Given the description of an element on the screen output the (x, y) to click on. 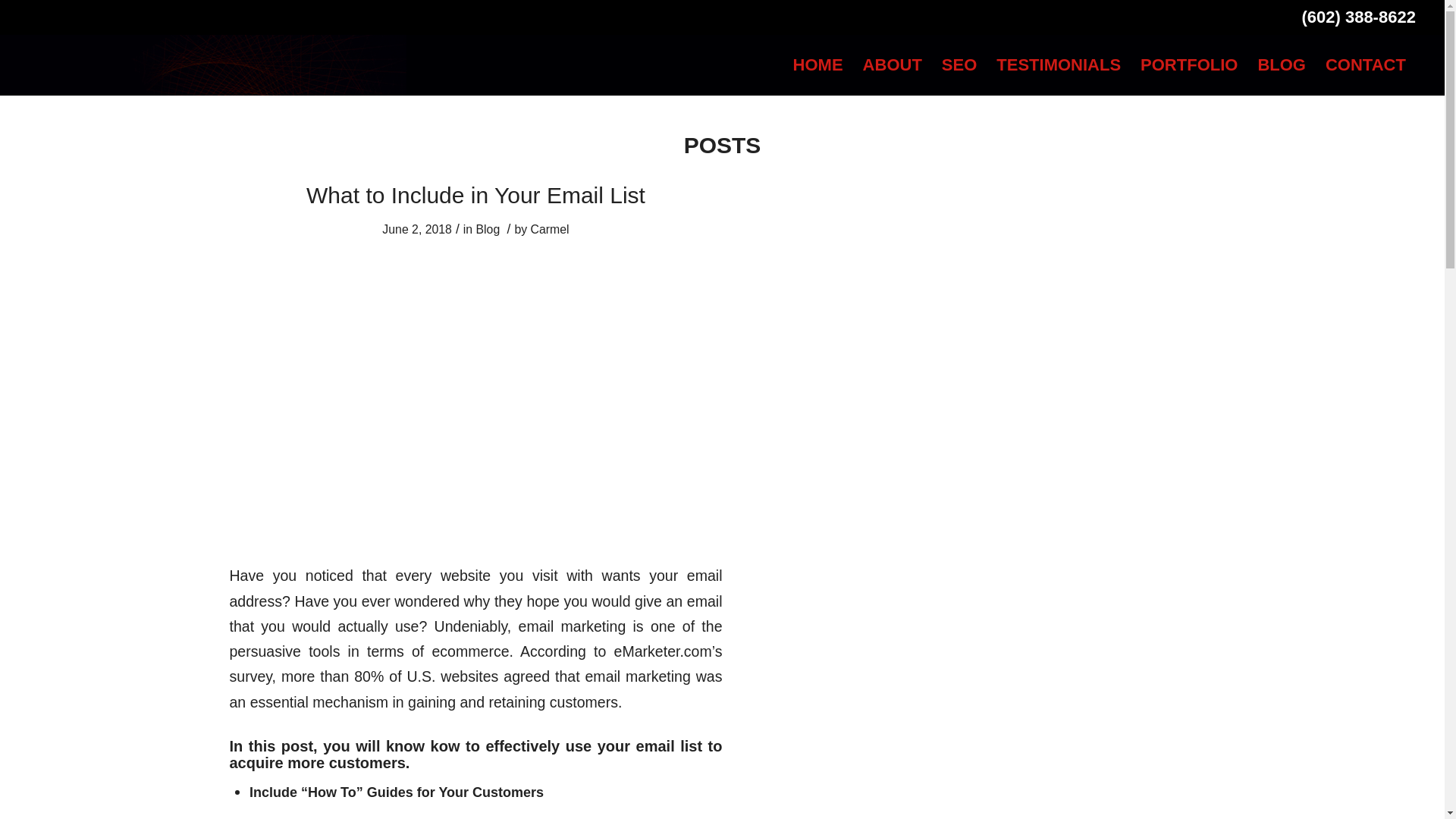
Posts by Carmel (550, 228)
PORTFOLIO (1189, 65)
What to Include in Your Email List (475, 195)
Permanent Link: What to Include in Your Email List (475, 195)
BLOG (1281, 65)
ABOUT (892, 65)
HOME (818, 65)
Carmel (550, 228)
SEO (959, 65)
TESTIMONIALS (1059, 65)
